Given the description of an element on the screen output the (x, y) to click on. 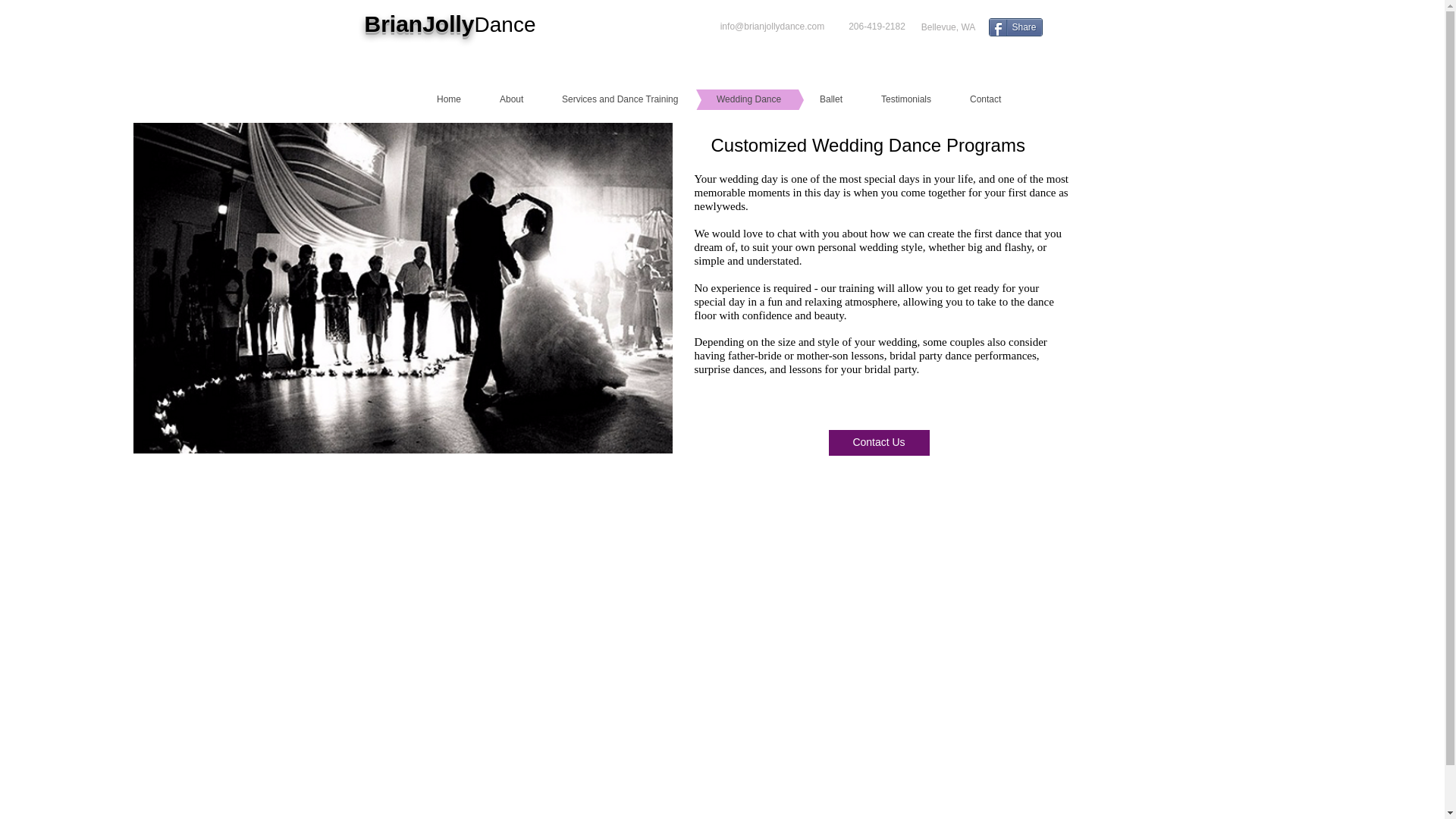
Share (1015, 27)
Services and Dance Training (596, 99)
Contact Us (878, 442)
Contact (962, 99)
Share (1015, 27)
Ballet (807, 99)
Bellevue, WA (948, 27)
Wedding Dance (725, 99)
About (488, 99)
Home (425, 99)
Testimonials (882, 99)
